Given the description of an element on the screen output the (x, y) to click on. 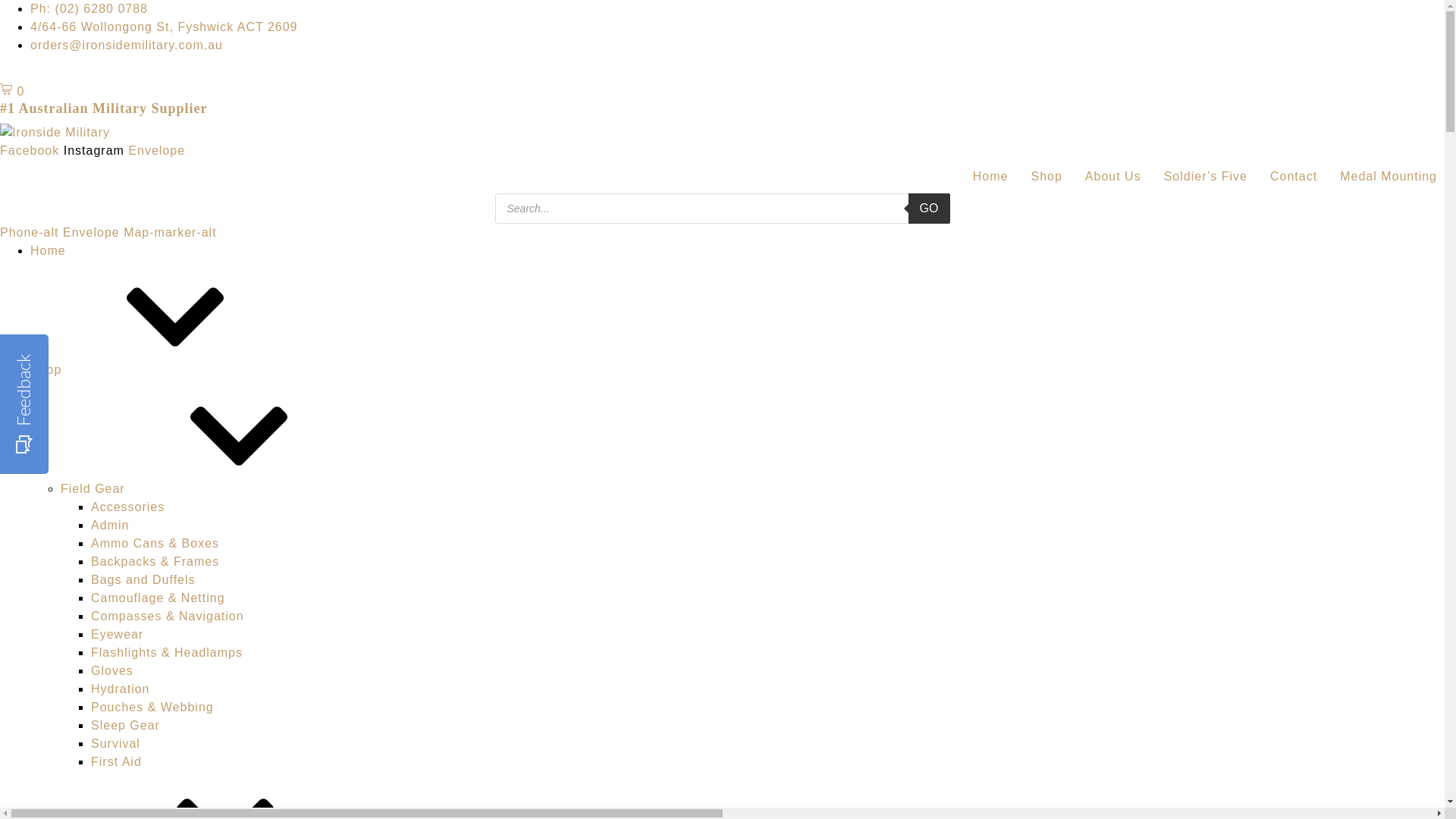
Flashlights & Headlamps Element type: text (166, 652)
Phone-alt Element type: text (31, 231)
Shop Element type: text (159, 369)
Map-marker-alt Element type: text (169, 231)
Compasses & Navigation Element type: text (167, 615)
Contact Element type: text (1289, 176)
Backpacks & Frames Element type: text (155, 561)
Home Element type: text (47, 250)
Hydration Element type: text (120, 688)
0 Element type: text (12, 90)
Field Gear Element type: text (206, 488)
Camouflage & Netting Element type: text (158, 597)
orders@ironsidemilitary.com.au Element type: text (126, 44)
Sleep Gear Element type: text (125, 724)
Shop Element type: text (1042, 176)
Survival Element type: text (115, 743)
Admin Element type: text (109, 524)
Envelope Element type: text (92, 231)
Accessories Element type: text (127, 506)
Envelope Element type: text (156, 150)
Medal Mounting Element type: text (1384, 176)
Pouches & Webbing Element type: text (152, 706)
Home Element type: text (986, 176)
Instagram Element type: text (95, 150)
4/64-66 Wollongong St, Fyshwick ACT 2609 Element type: text (163, 26)
Gloves Element type: text (112, 670)
Ammo Cans & Boxes Element type: text (155, 542)
Eyewear Element type: text (117, 633)
First Aid Element type: text (116, 761)
Ph: (02) 6280 0788 Element type: text (88, 8)
Login / Register Element type: text (38, 72)
GO Element type: text (929, 208)
About Us Element type: text (1109, 176)
Bags and Duffels Element type: text (143, 579)
Facebook Element type: text (31, 150)
